Given the description of an element on the screen output the (x, y) to click on. 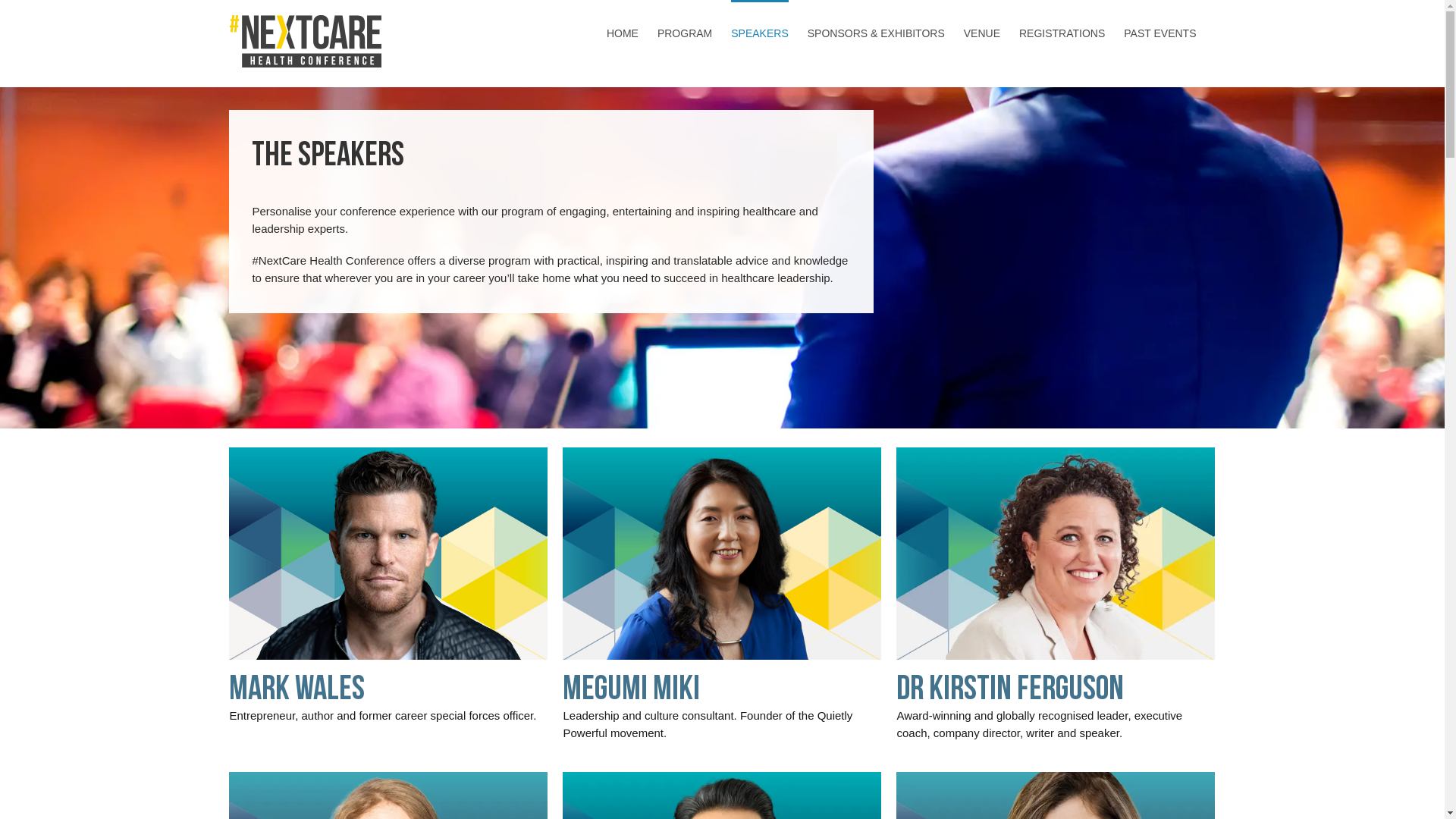
Megumi Miki Element type: text (630, 690)
Mark Wales Element type: text (296, 690)
Dr Kirstin Ferguson Element type: text (1009, 690)
PAST EVENTS Element type: text (1159, 32)
REGISTRATIONS Element type: text (1061, 32)
VENUE Element type: text (981, 32)
SPONSORS & EXHIBITORS Element type: text (875, 32)
HOME Element type: text (622, 32)
SPEAKERS Element type: text (759, 32)
PROGRAM Element type: text (684, 32)
